Given the description of an element on the screen output the (x, y) to click on. 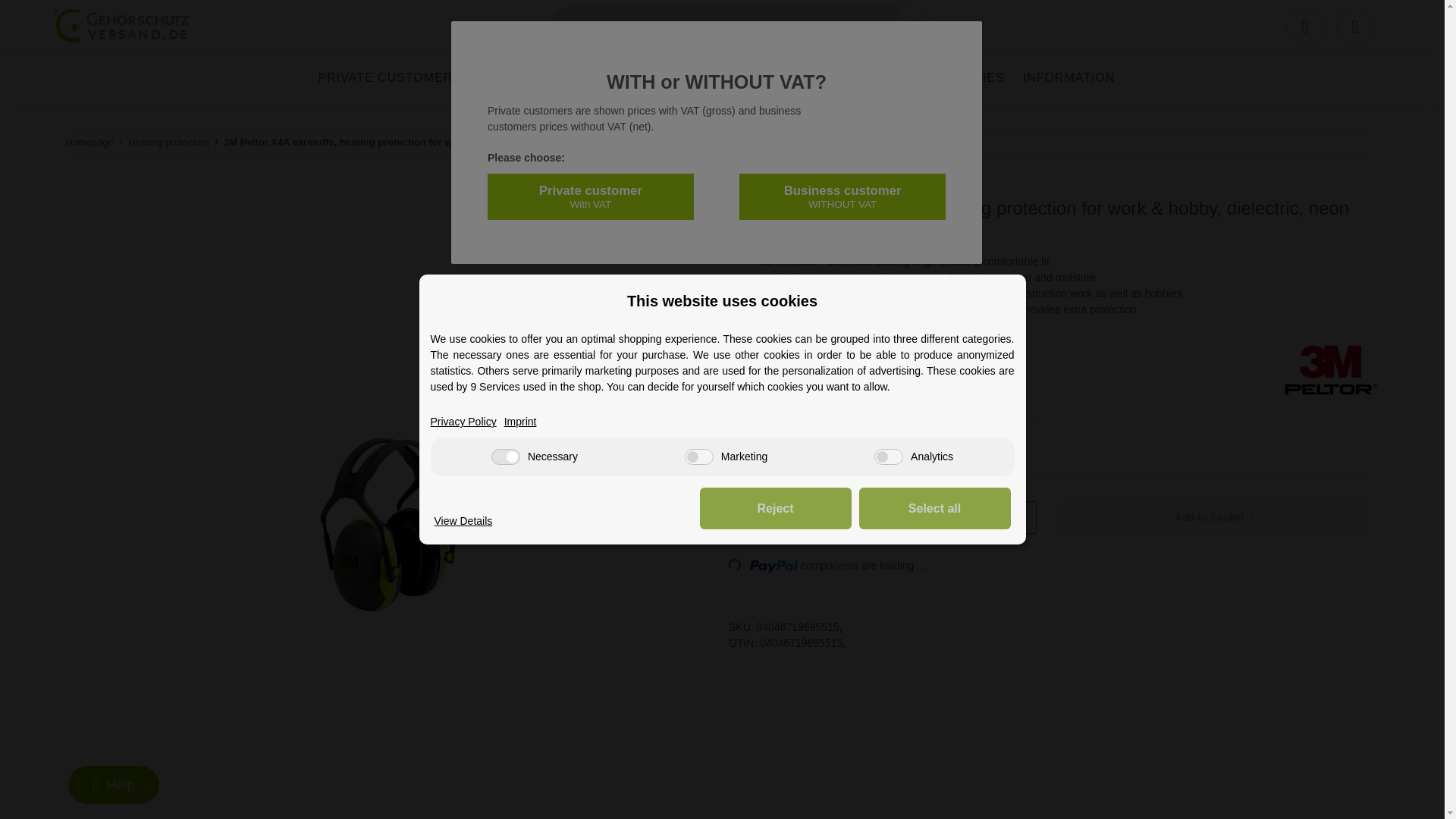
on (505, 456)
Hearing protection (729, 77)
Business customers (557, 77)
Information (1068, 77)
1 (856, 517)
on (888, 456)
Private customers (389, 77)
Homepage (89, 142)
on (698, 456)
